Given the description of an element on the screen output the (x, y) to click on. 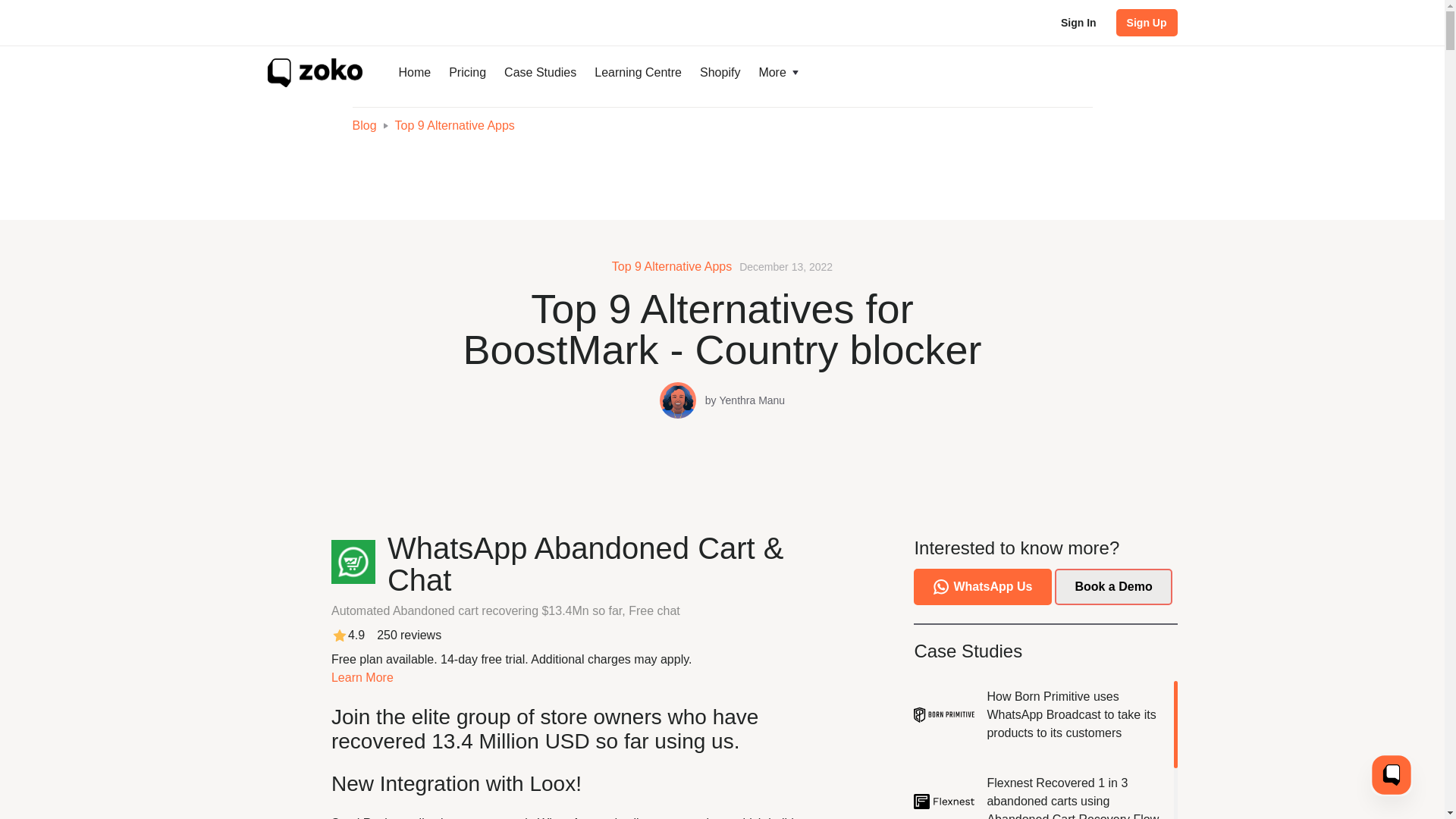
Top 9 Alternative Apps (454, 124)
Blog (363, 126)
Sign In (1077, 22)
Sign Up (1146, 22)
Learn More (362, 676)
zoko-logo.png (313, 72)
Case Studies (540, 72)
WhatsApp Us (982, 586)
Pricing (467, 72)
Shopify (719, 72)
Learning Centre (637, 72)
Book a Demo (1113, 586)
Home (415, 72)
